Given the description of an element on the screen output the (x, y) to click on. 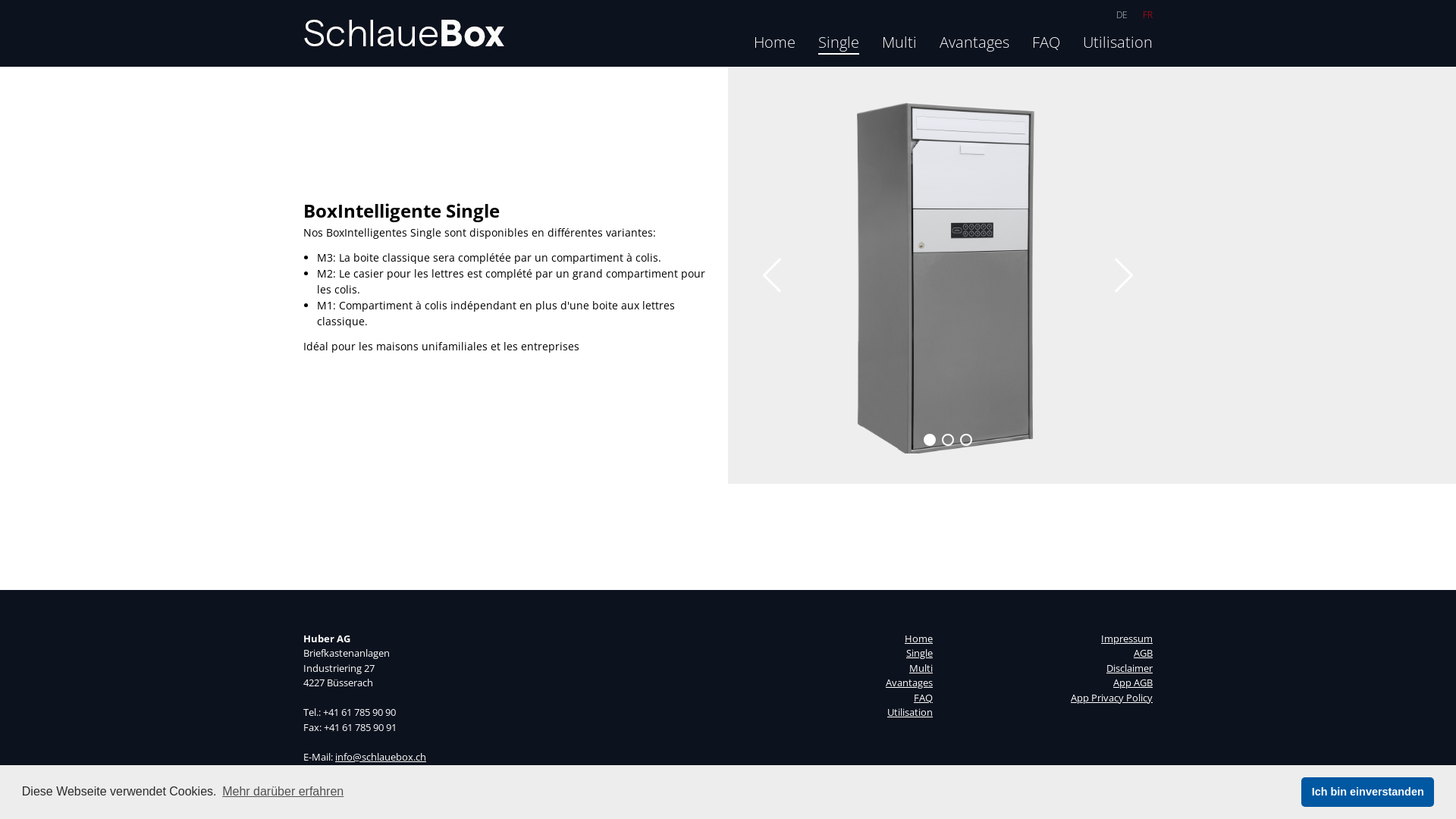
Avantages Element type: text (908, 682)
Impressum Element type: text (1126, 637)
info@schlauebox.ch Element type: text (380, 755)
FAQ Element type: text (1045, 42)
Multi Element type: text (899, 42)
Disclaimer Element type: text (1129, 667)
Ich bin einverstanden Element type: text (1367, 791)
App Privacy Policy Element type: text (1111, 696)
DE Element type: text (1121, 14)
Utilisation Element type: text (909, 711)
FAQ Element type: text (922, 696)
FR Element type: text (1147, 14)
Avantages Element type: text (974, 42)
Single Element type: text (838, 42)
Multi Element type: text (920, 667)
Home Element type: text (774, 42)
Utilisation Element type: text (1117, 42)
App AGB Element type: text (1132, 682)
AGB Element type: text (1142, 652)
Single Element type: text (919, 652)
Home Element type: text (918, 637)
